Given the description of an element on the screen output the (x, y) to click on. 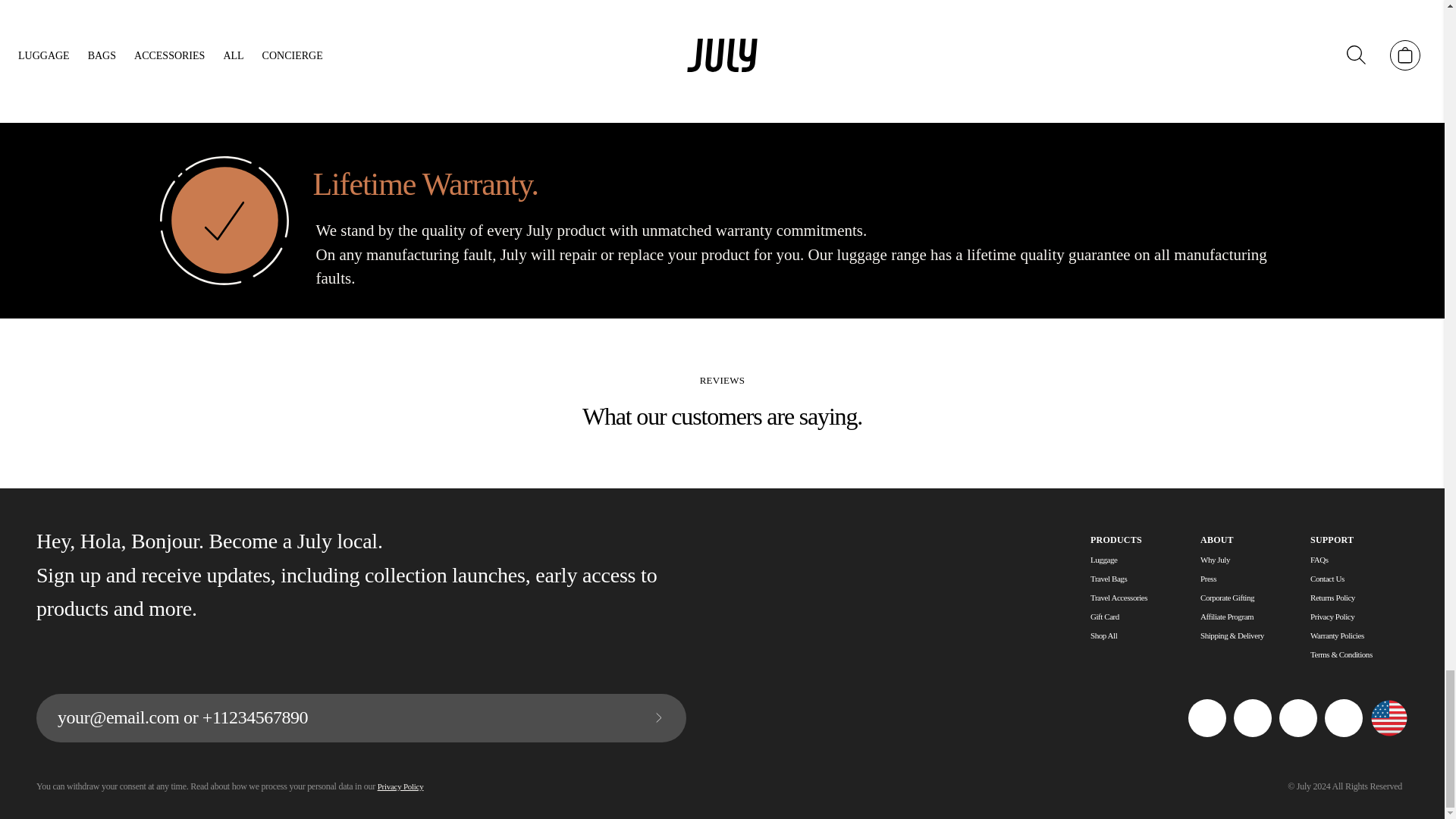
Contact Us (1326, 578)
Privacy Policy (1332, 616)
Why July (1214, 559)
Shop All (1103, 635)
Luggage (1103, 559)
Gift Card (1104, 616)
Travel Accessories (1118, 597)
Press (1207, 578)
Returns Policy (1332, 597)
Corporate Gifting (1226, 597)
Travel Bags (1108, 578)
Warranty Policies (1337, 635)
Affiliate Program (1226, 616)
FAQs (1318, 559)
